Given the description of an element on the screen output the (x, y) to click on. 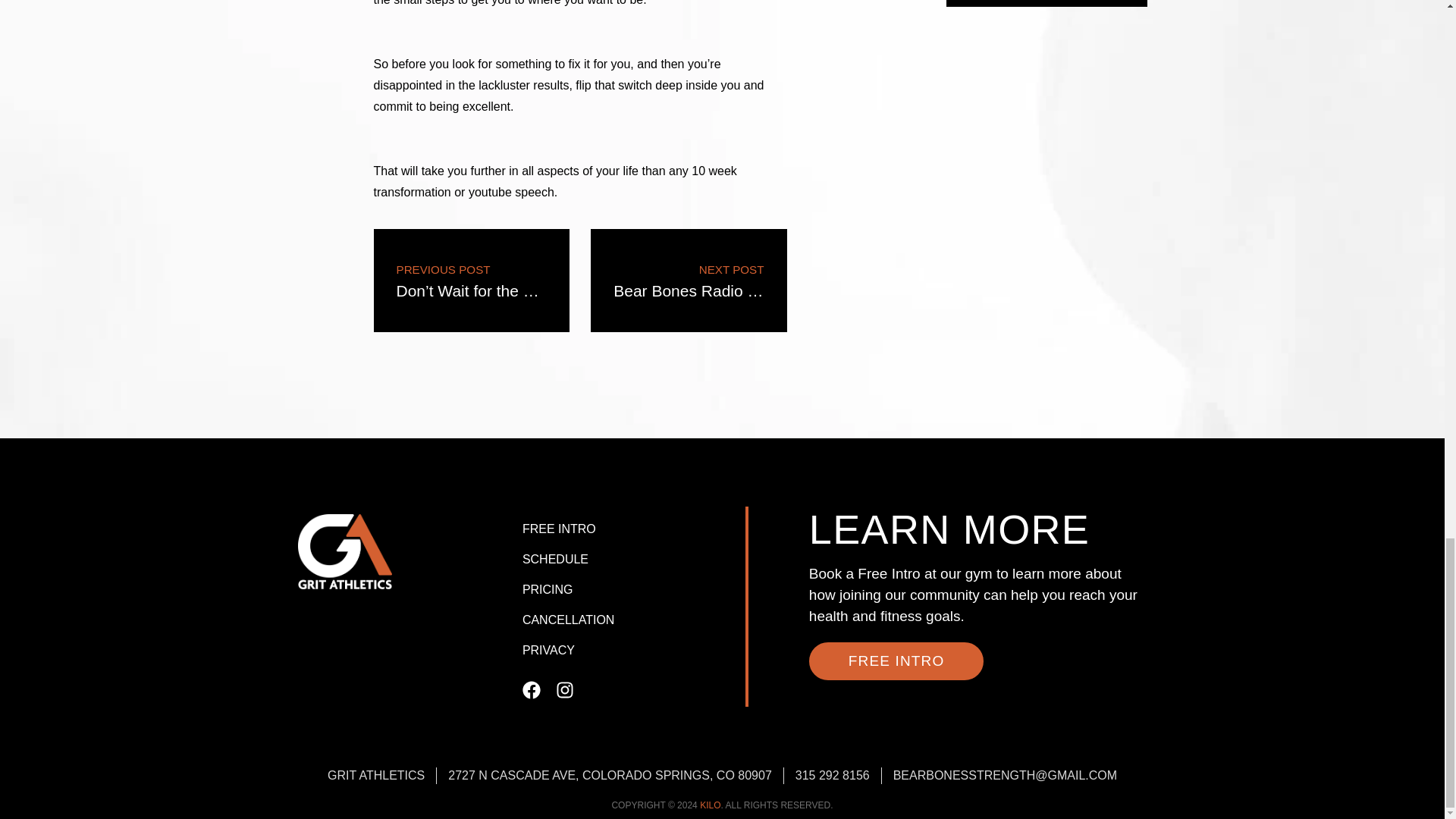
SCHEDULE (630, 559)
PRICING (688, 280)
CANCELLATION (630, 589)
PRIVACY (630, 620)
FREE INTRO (630, 650)
